Given the description of an element on the screen output the (x, y) to click on. 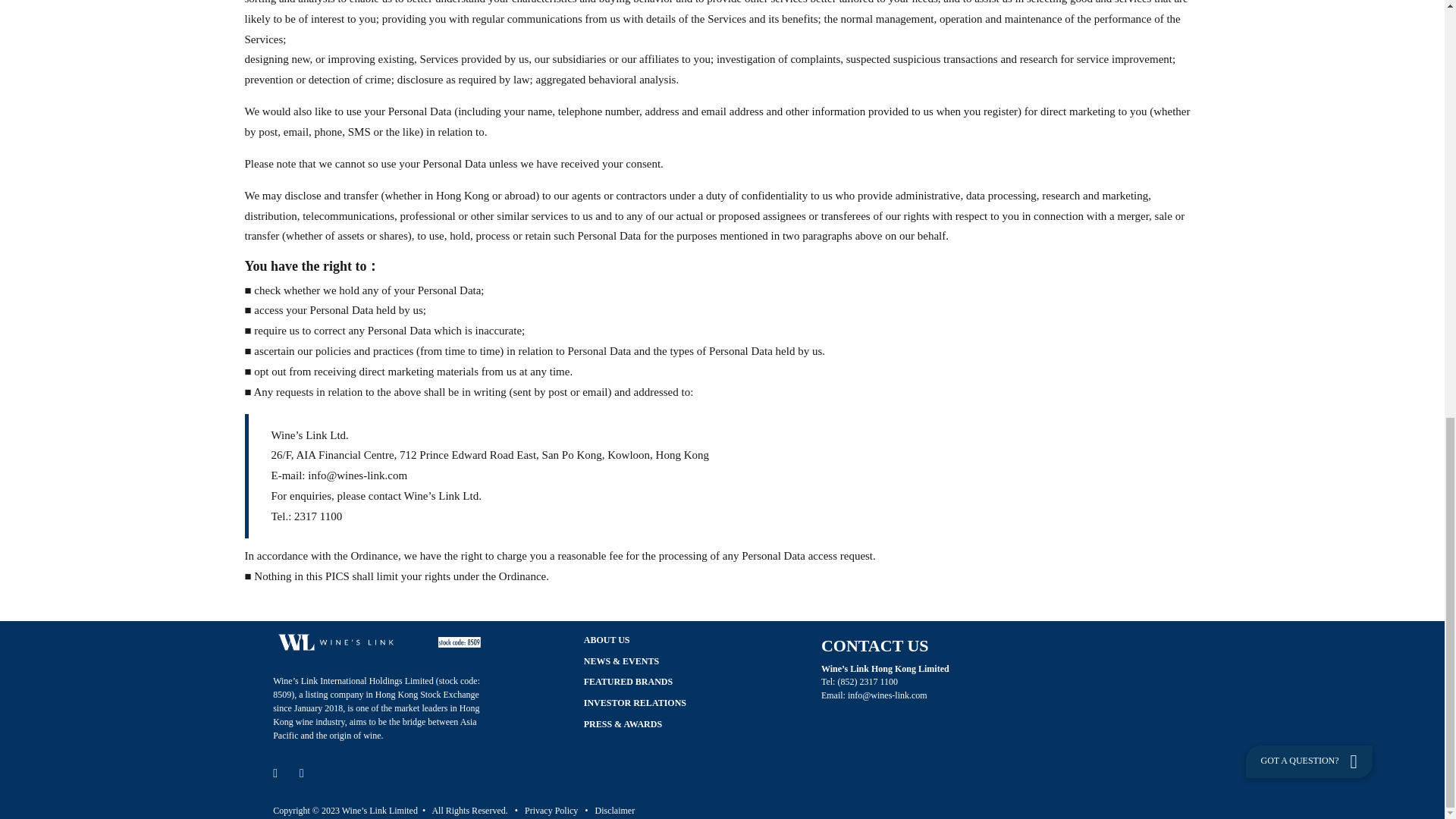
ABOUT US (606, 640)
INVESTOR RELATIONS (634, 703)
wines-link.com (898, 695)
Disclaimer (614, 810)
Privacy Policy (551, 810)
